Given the description of an element on the screen output the (x, y) to click on. 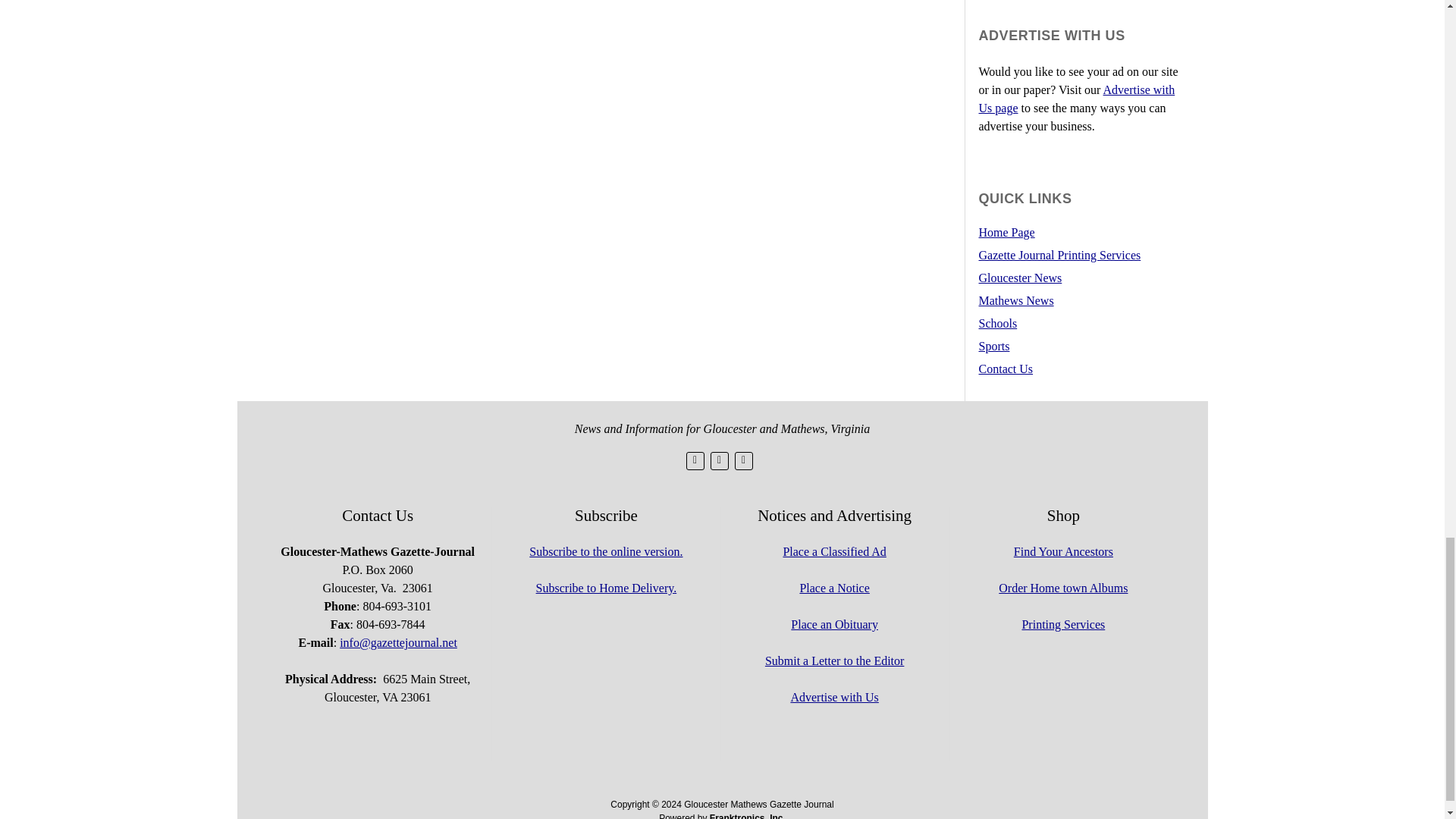
facebook (719, 461)
instagram (742, 461)
twitter (694, 461)
